Given the description of an element on the screen output the (x, y) to click on. 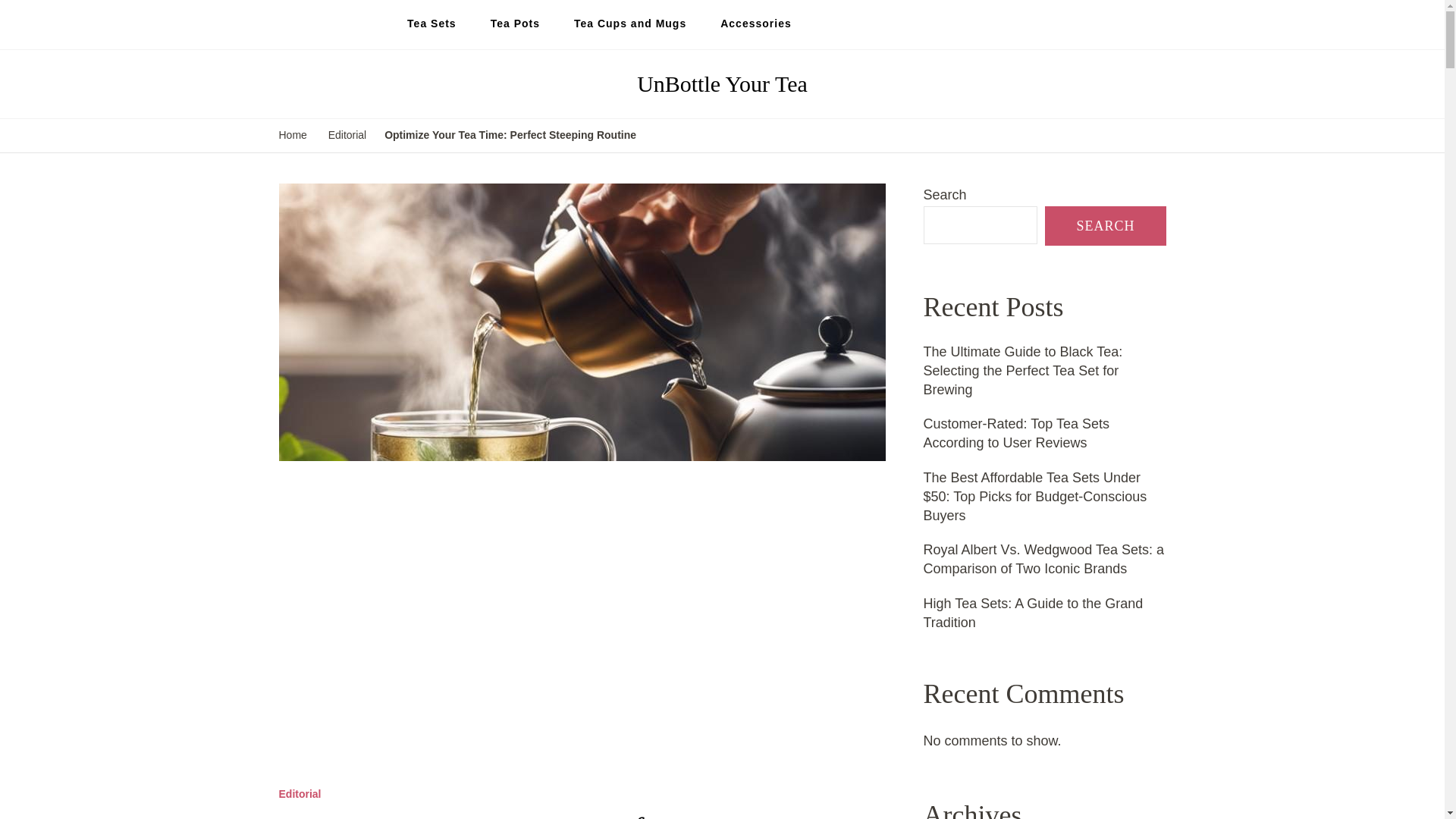
Tea Cups and Mugs (630, 24)
Accessories (755, 24)
Tea Pots (515, 24)
Optimize Your Tea Time: Perfect Steeping Routine (510, 135)
Editorial (300, 794)
Editorial (347, 135)
Tea Sets (431, 24)
Home (293, 135)
UnBottle Your Tea (722, 83)
